Given the description of an element on the screen output the (x, y) to click on. 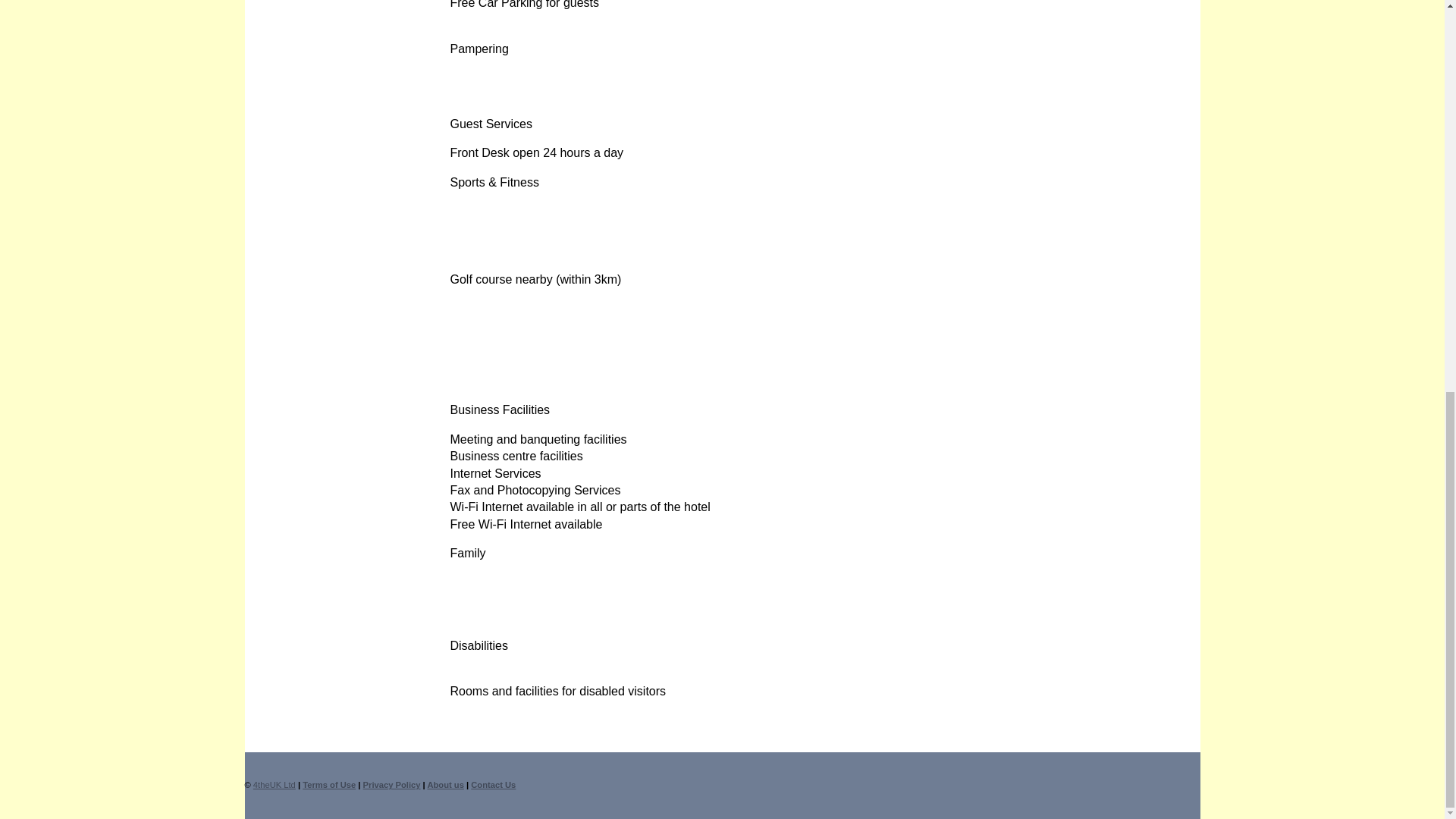
Terms of Use (328, 784)
4theUK Ltd (274, 784)
About us (444, 784)
Contact Us (492, 784)
Privacy Policy (391, 784)
